Given the description of an element on the screen output the (x, y) to click on. 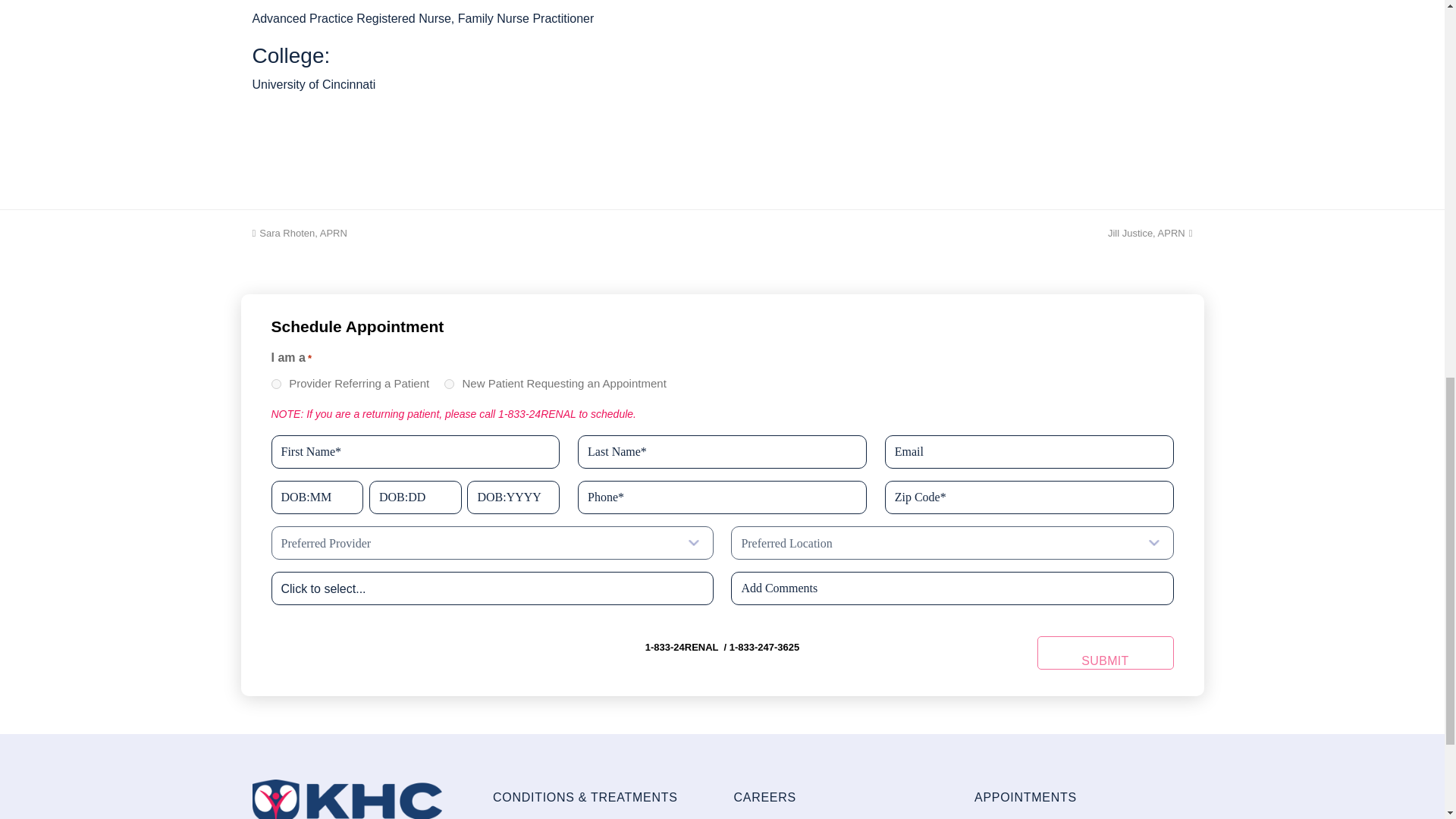
CAREERS (764, 797)
Submit (1104, 652)
Referring Provider (275, 384)
Submit (1104, 652)
Click to select... (298, 233)
Click to select... (1150, 233)
APPOINTMENTS (337, 588)
Patient (337, 588)
